Given the description of an element on the screen output the (x, y) to click on. 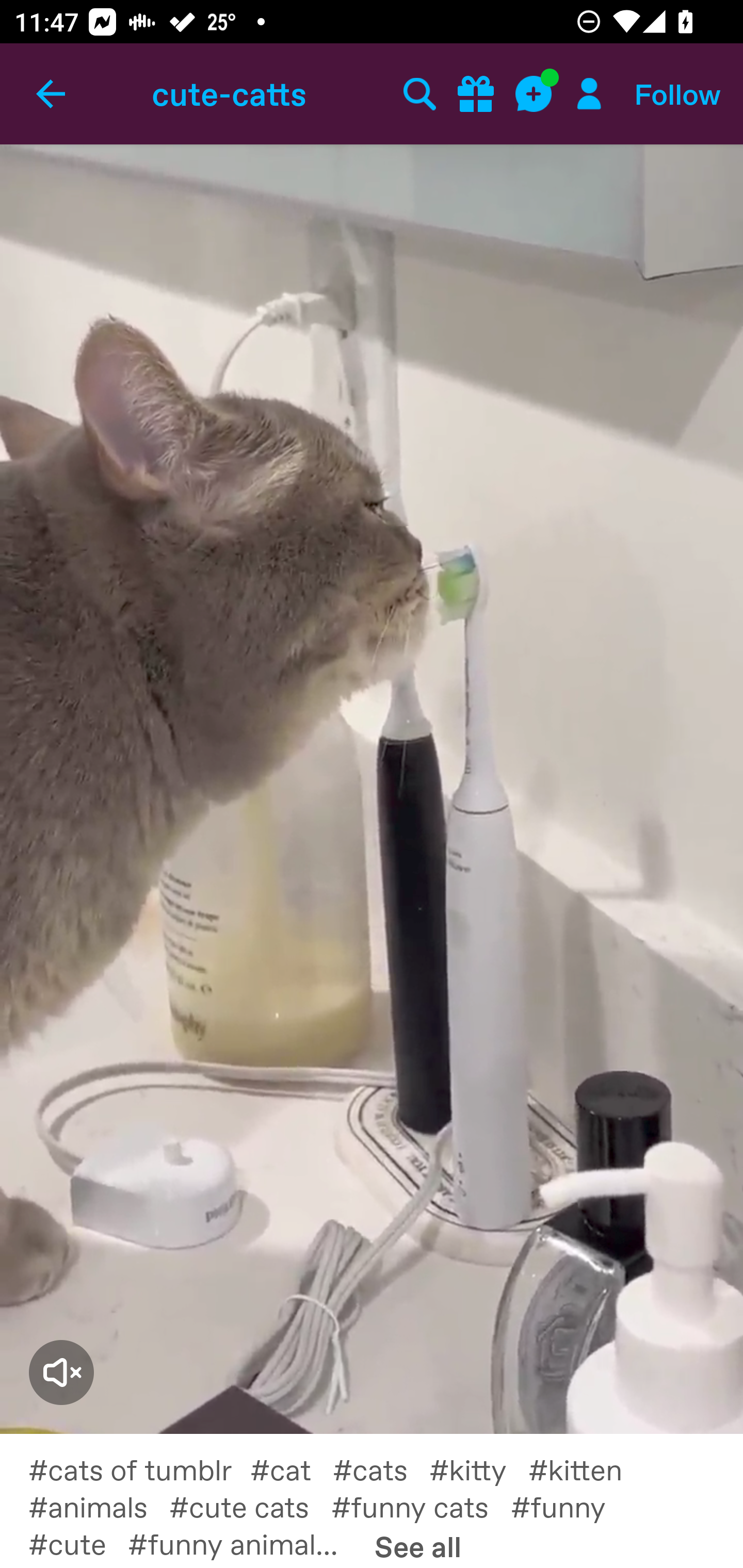
Navigate up (50, 93)
Messages (535, 93)
Follow (677, 93)
#cats of tumblr (139, 1469)
#cat (291, 1469)
#cats (380, 1469)
#kitty (478, 1469)
#kitten (586, 1469)
#animals (98, 1506)
#cute cats (250, 1506)
#funny cats (421, 1506)
#funny (569, 1506)
#cute (77, 1542)
#funny animal… (243, 1542)
See all (417, 1546)
